Given the description of an element on the screen output the (x, y) to click on. 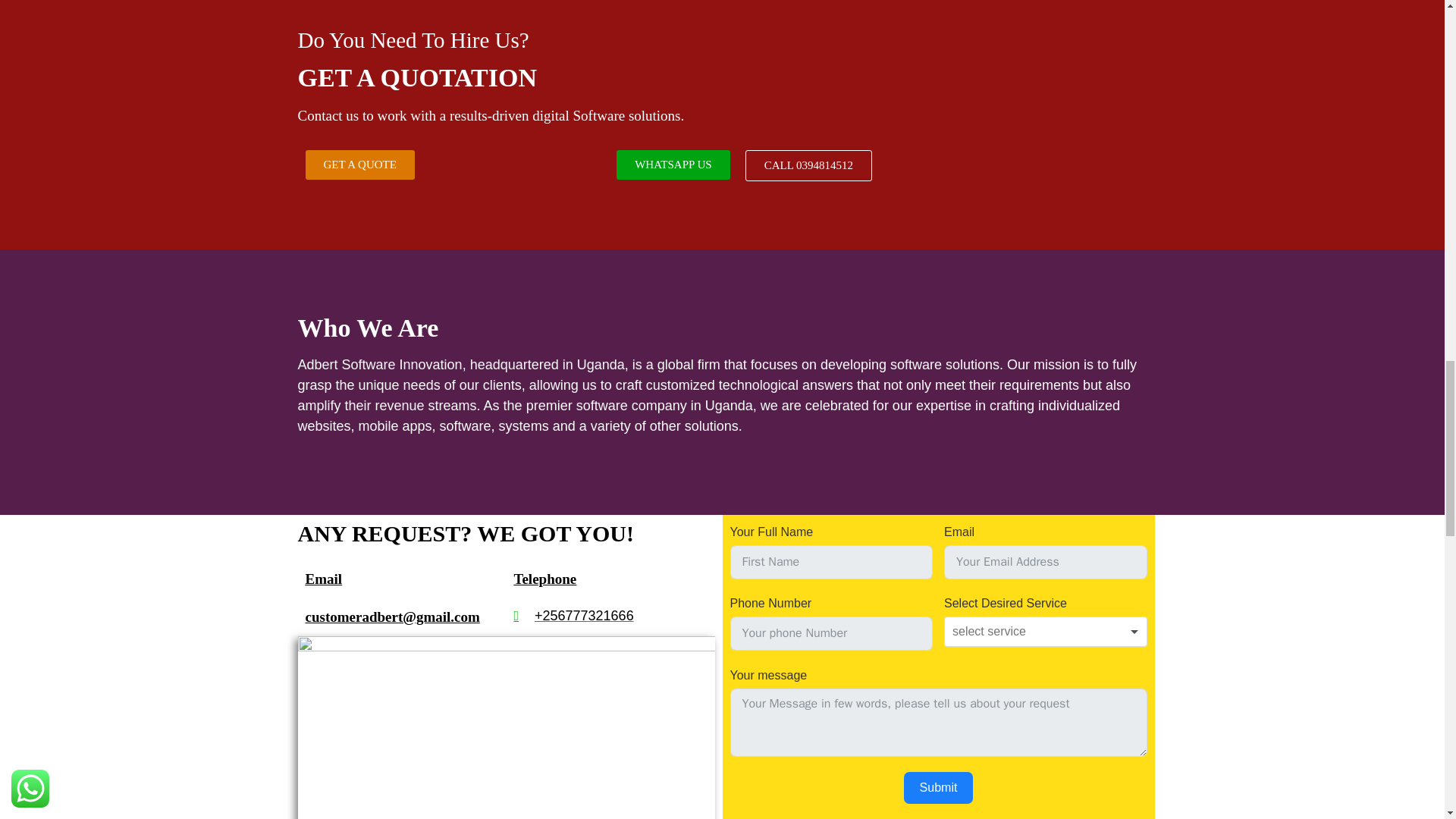
GET A QUOTE (358, 164)
Email (323, 578)
Telephone (544, 578)
WHATSAPP US (672, 164)
CALL 0394814512 (808, 164)
